Given the description of an element on the screen output the (x, y) to click on. 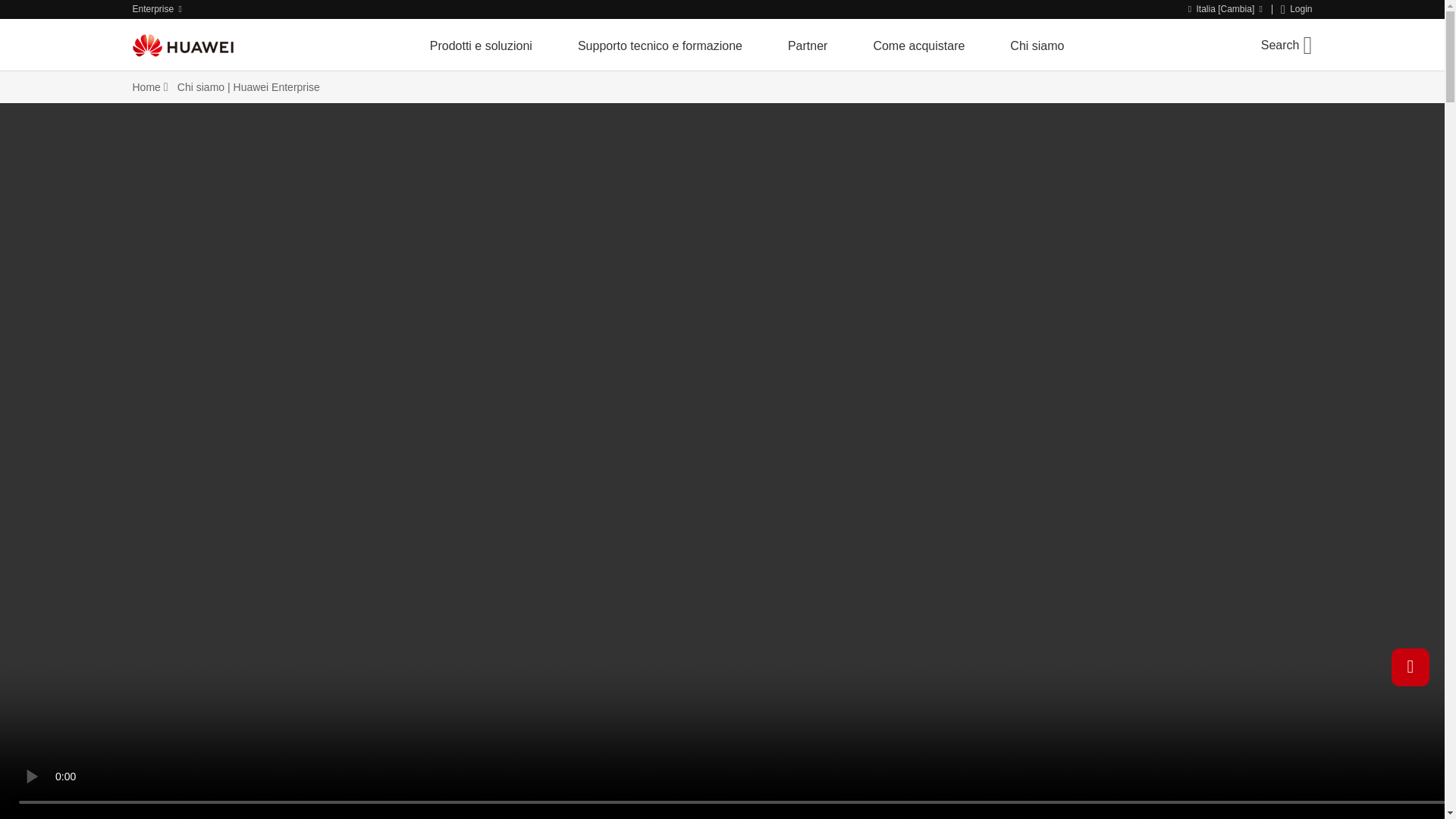
Huawei (182, 44)
Login (1296, 9)
